Given the description of an element on the screen output the (x, y) to click on. 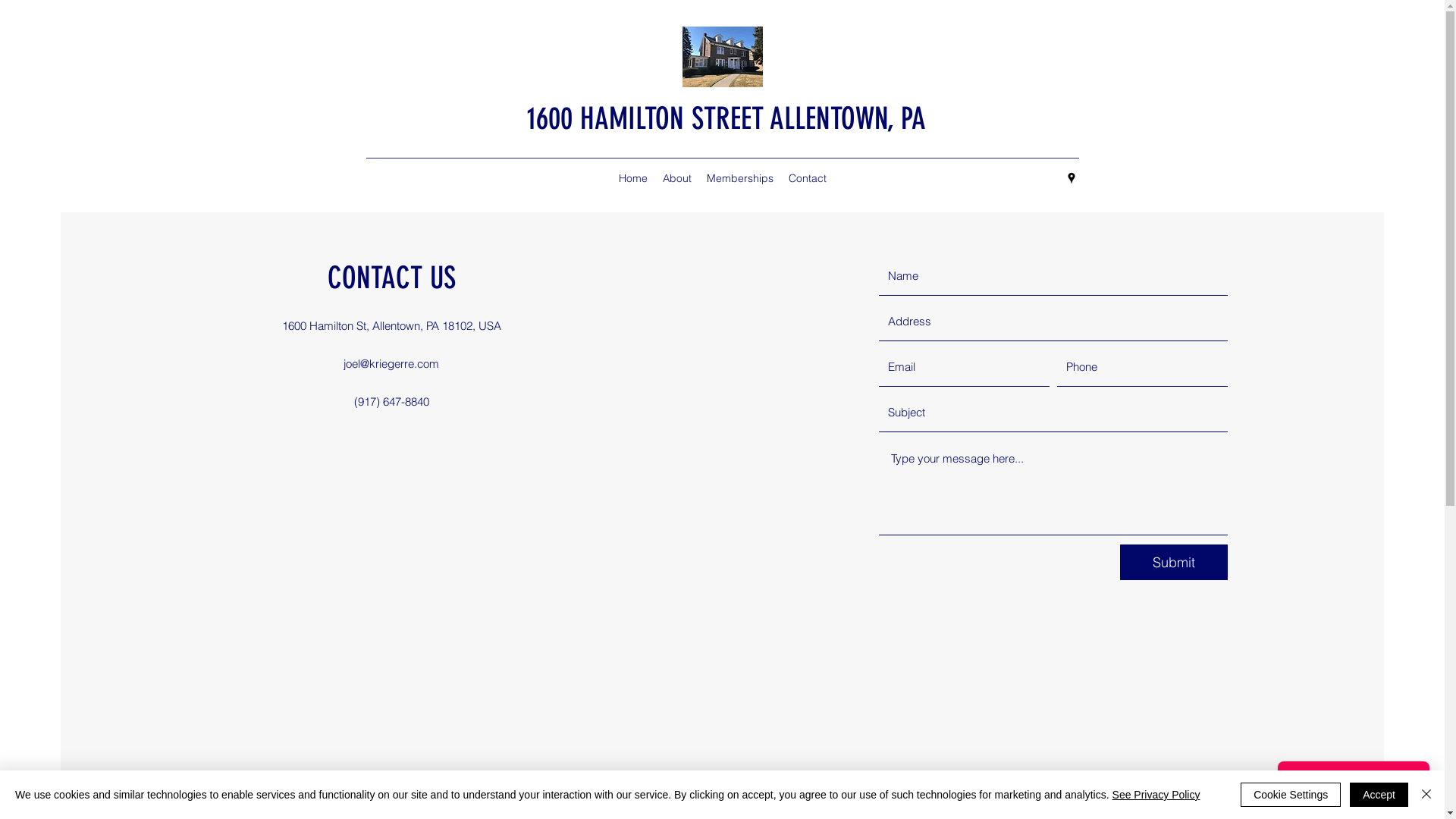
Home Element type: text (633, 177)
Submit Element type: text (1173, 562)
Accept Element type: text (1378, 794)
Memberships Element type: text (740, 177)
Cookie Settings Element type: text (1290, 794)
About Element type: text (677, 177)
1600 HAMILTON STREET ALLENTOWN, PA Element type: text (726, 118)
Contact Element type: text (807, 177)
See Privacy Policy Element type: text (1156, 794)
joel@kriegerre.com Element type: text (391, 363)
